Given the description of an element on the screen output the (x, y) to click on. 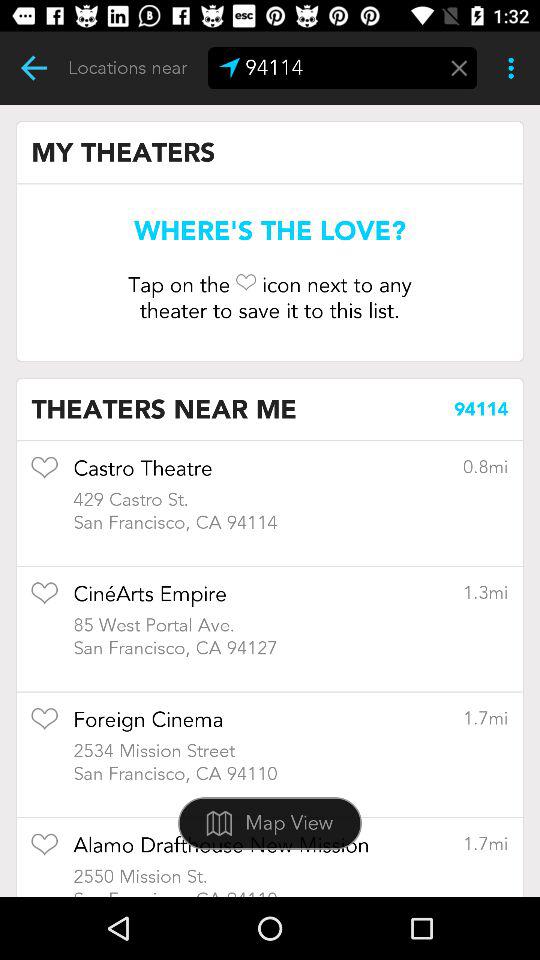
add to favorites (44, 725)
